Given the description of an element on the screen output the (x, y) to click on. 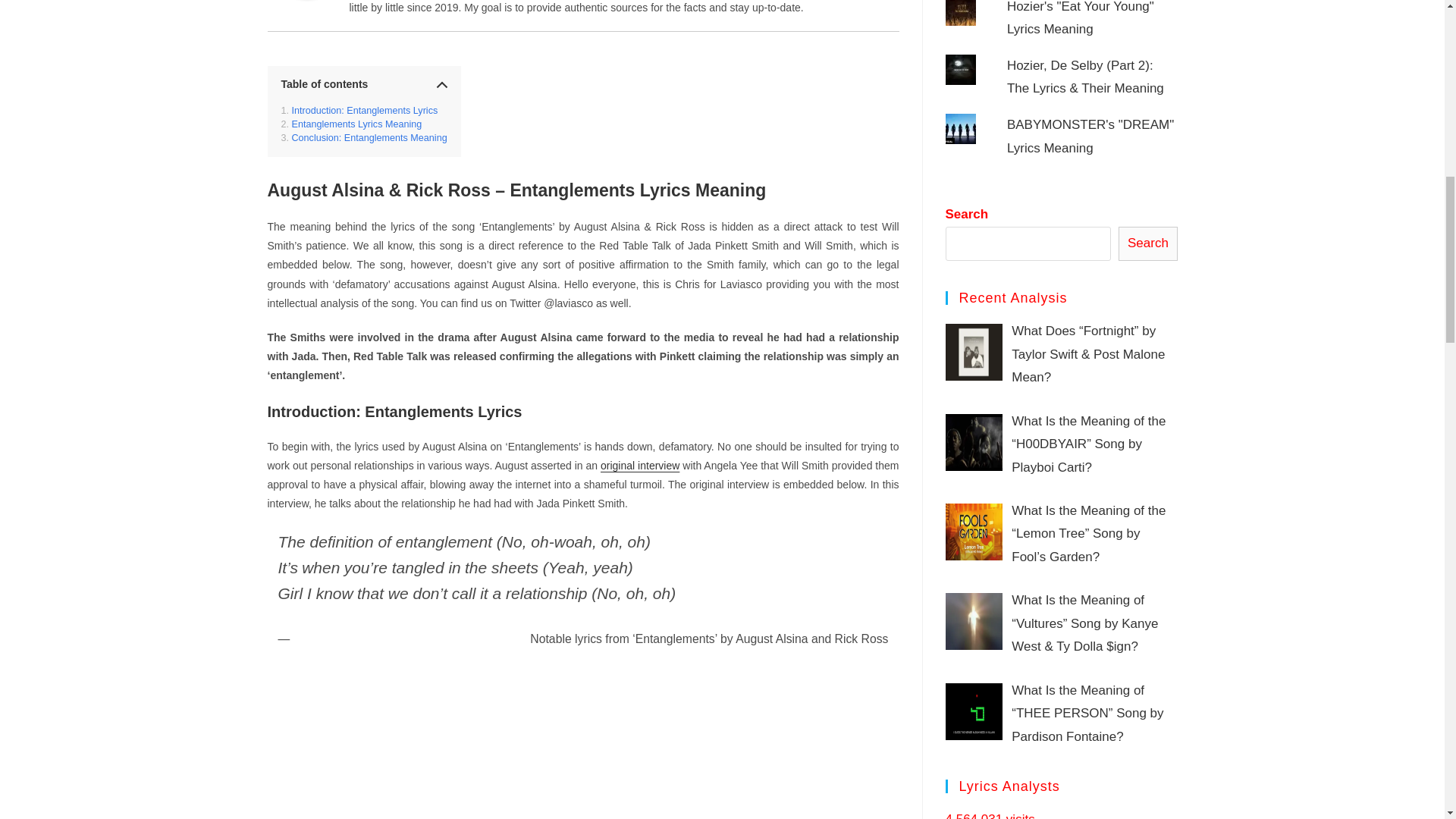
Conclusion: Entanglements Meaning (363, 137)
Introduction: Entanglements Lyrics (359, 110)
The Interview - August Alsina and Angela Yee (582, 739)
Entanglements Lyrics Meaning (351, 123)
